Given the description of an element on the screen output the (x, y) to click on. 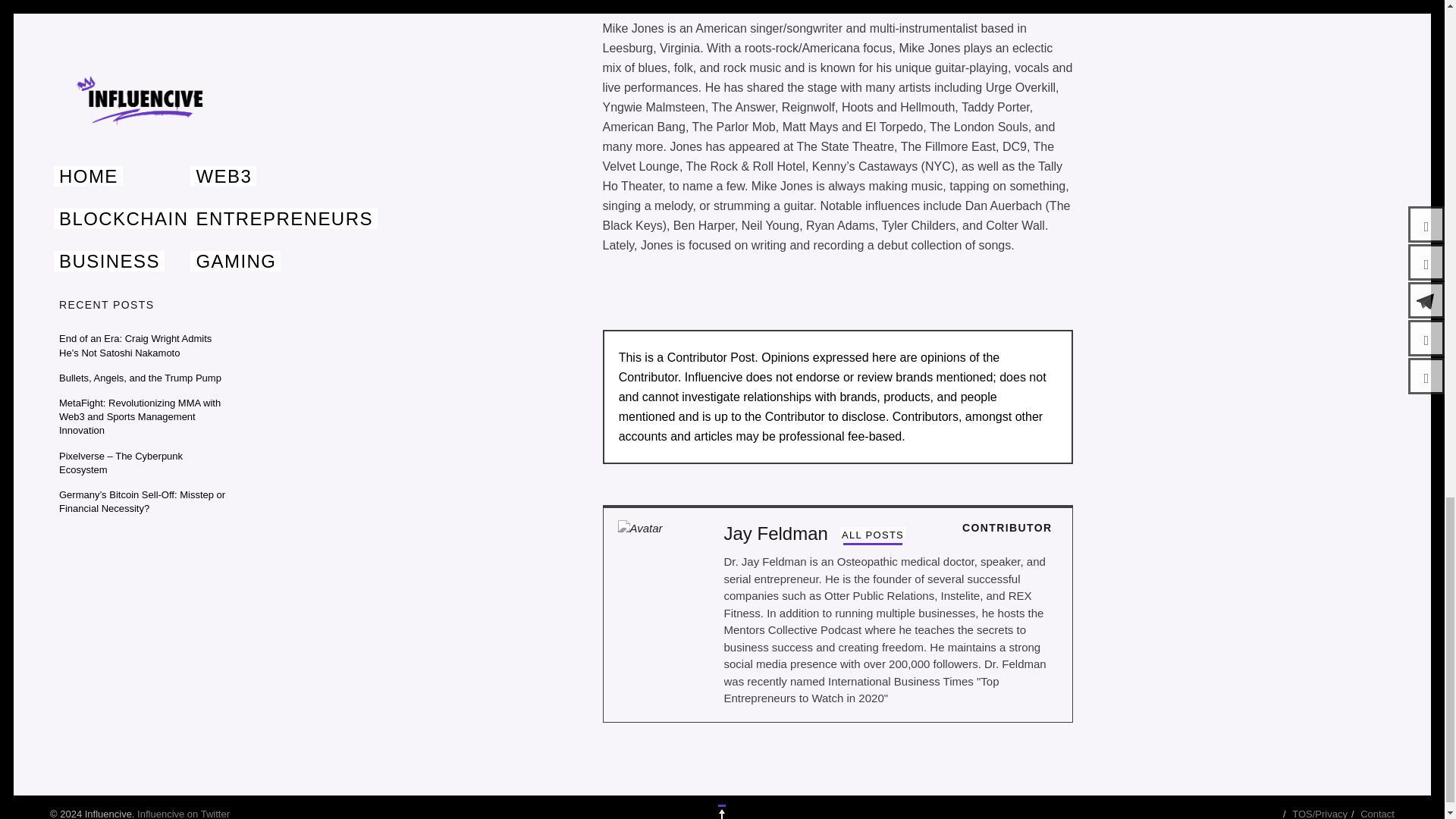
ALL POSTS (872, 535)
View all posts by Jay Feldman (872, 535)
